Given the description of an element on the screen output the (x, y) to click on. 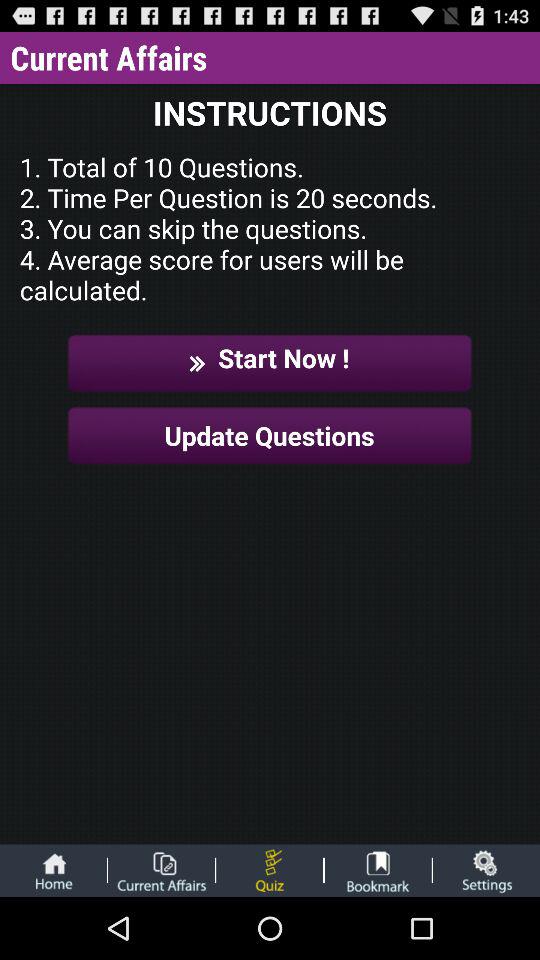
current affairs (161, 870)
